Given the description of an element on the screen output the (x, y) to click on. 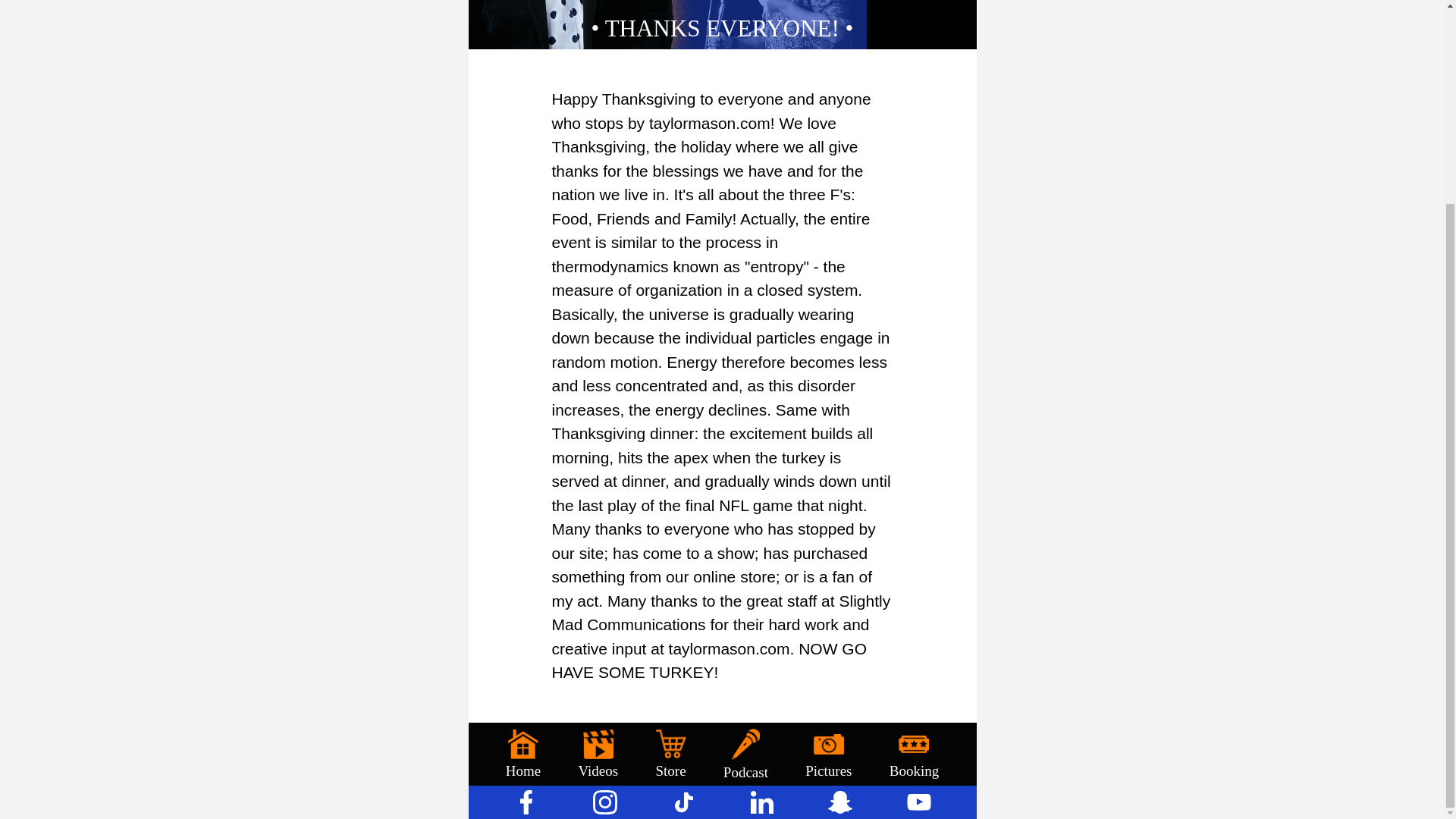
Pictures (828, 491)
Booking (914, 491)
